Given the description of an element on the screen output the (x, y) to click on. 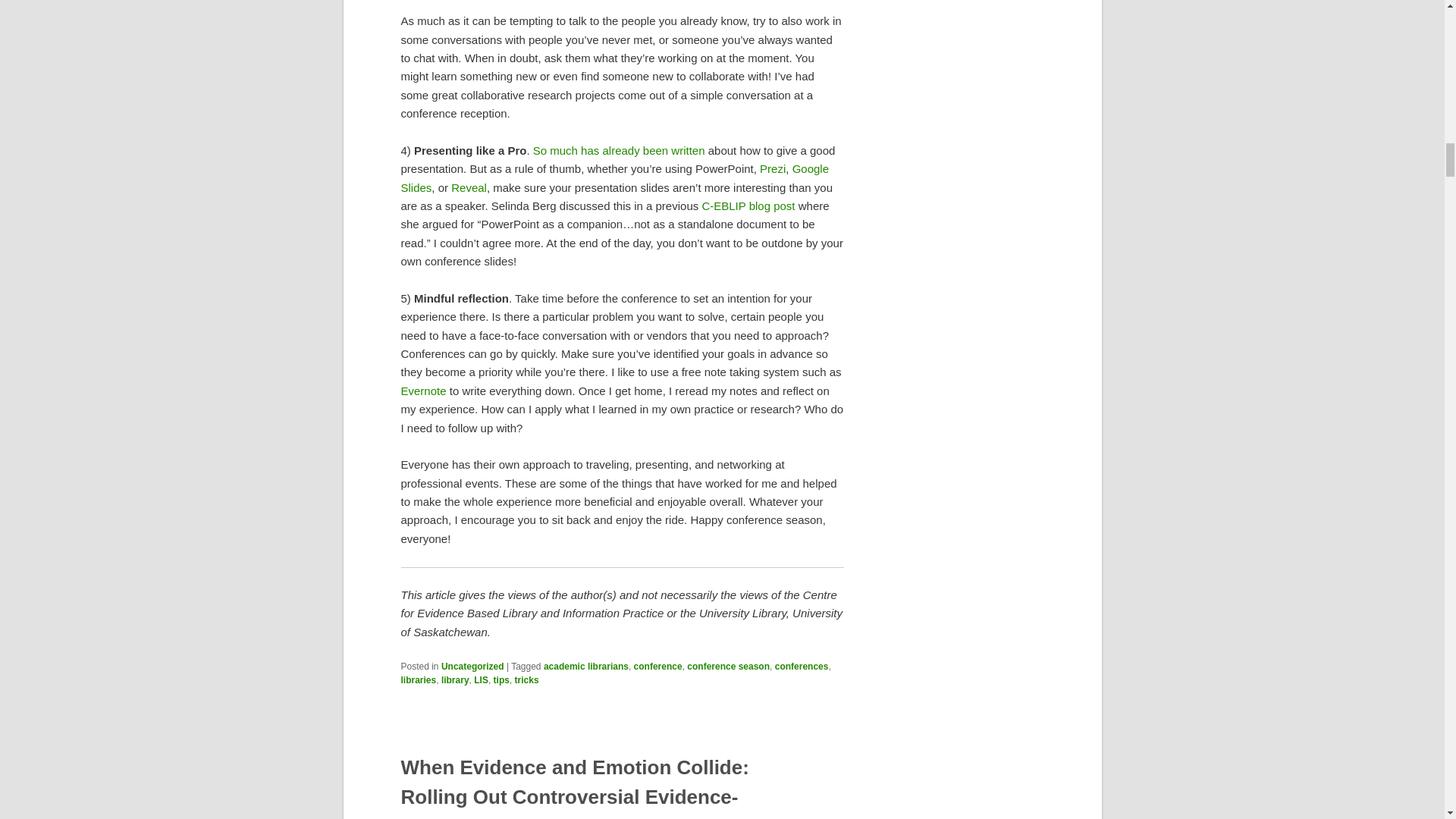
So much has already been written (618, 150)
Reveal (468, 187)
Prezi (773, 168)
Google Slides (614, 177)
